Given the description of an element on the screen output the (x, y) to click on. 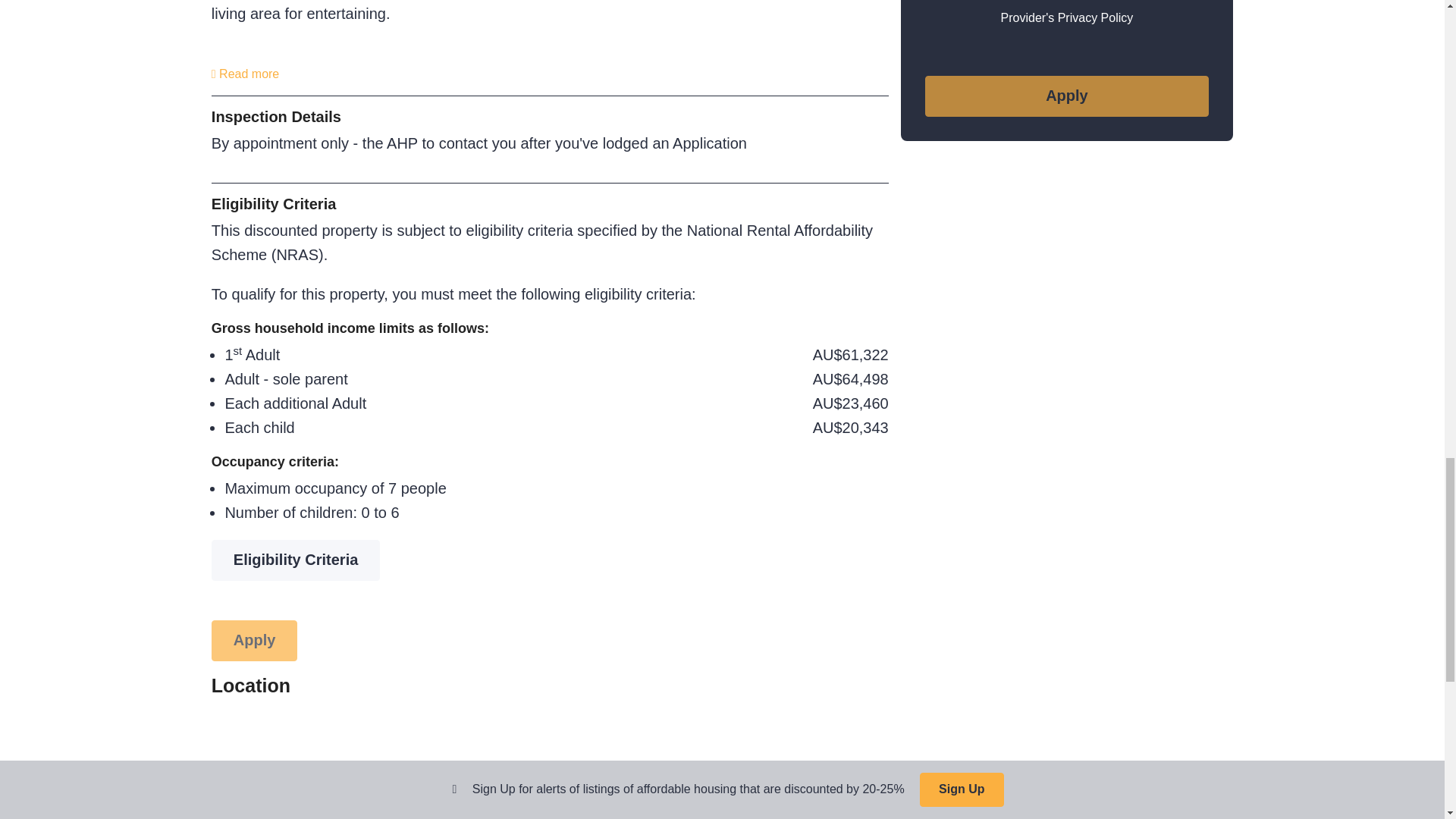
Link Wentworth (1066, 1)
Provider's Privacy Policy (1067, 17)
AHP Cannot lodge Application (1066, 96)
Read more (245, 73)
AHP Cannot lodge Application (254, 639)
Apply (1066, 96)
Eligibility Criteria (295, 559)
